Given the description of an element on the screen output the (x, y) to click on. 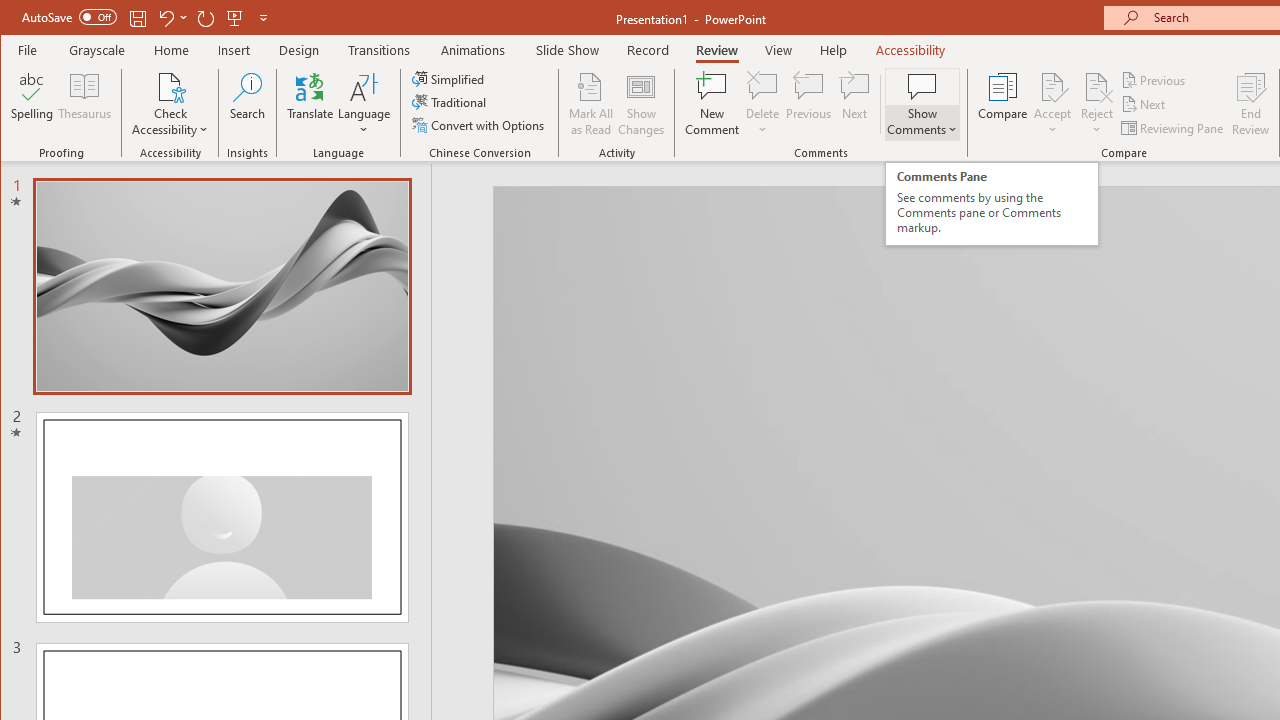
Compare (1002, 104)
Mark All as Read (591, 104)
Previous (1154, 80)
Simplified (450, 78)
Delete (762, 86)
